Given the description of an element on the screen output the (x, y) to click on. 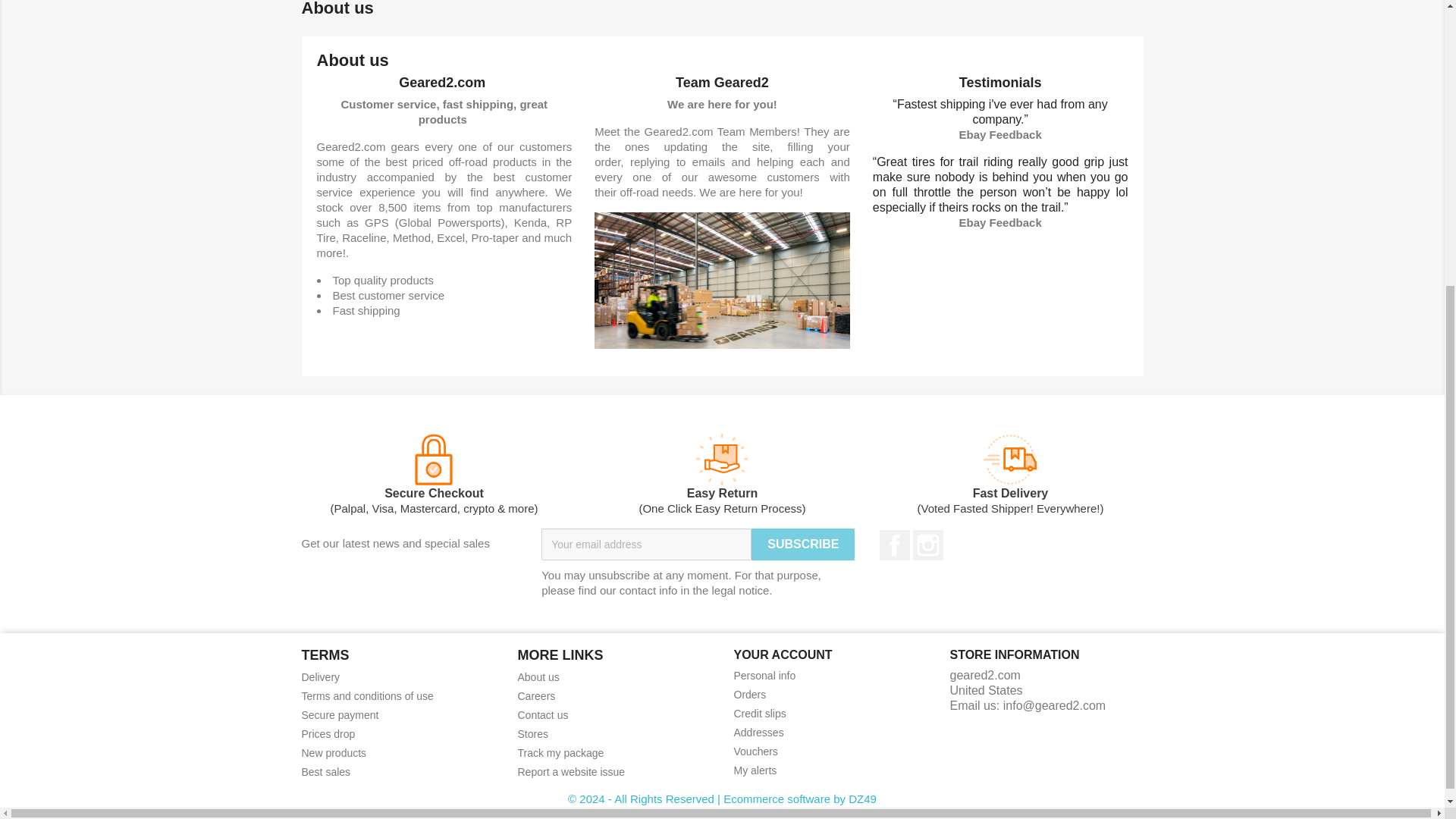
Personal info (764, 675)
New products (333, 752)
Orders (750, 694)
Our special products (328, 734)
Subscribe (802, 544)
Vouchers (755, 751)
Instagram (927, 544)
Best sales (325, 771)
Our best sales (325, 771)
Careers (535, 695)
Our terms and conditions of use (367, 695)
Track my package (560, 752)
Secure payment (339, 715)
Facebook (894, 544)
